Given the description of an element on the screen output the (x, y) to click on. 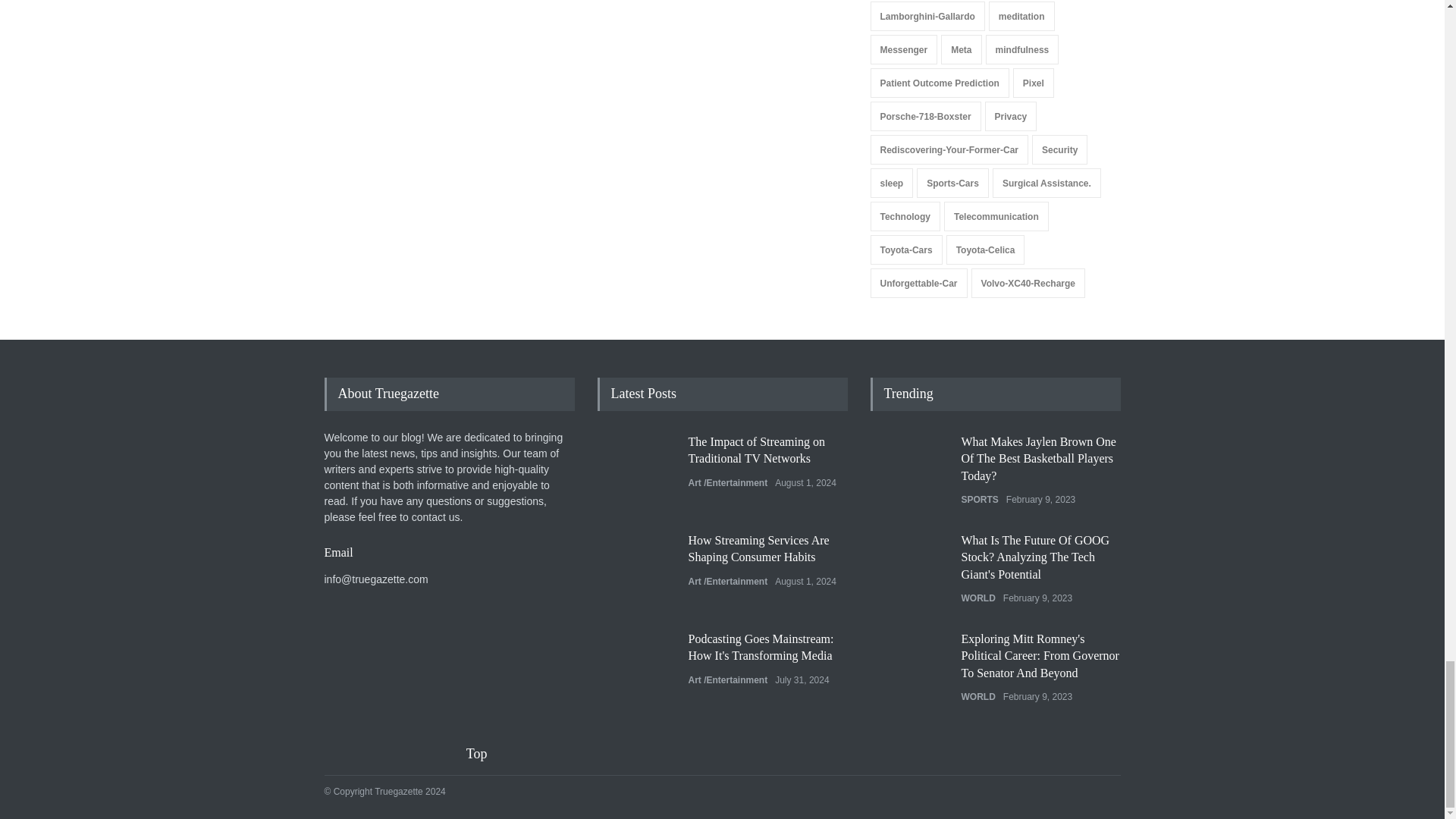
Top (485, 753)
